Given the description of an element on the screen output the (x, y) to click on. 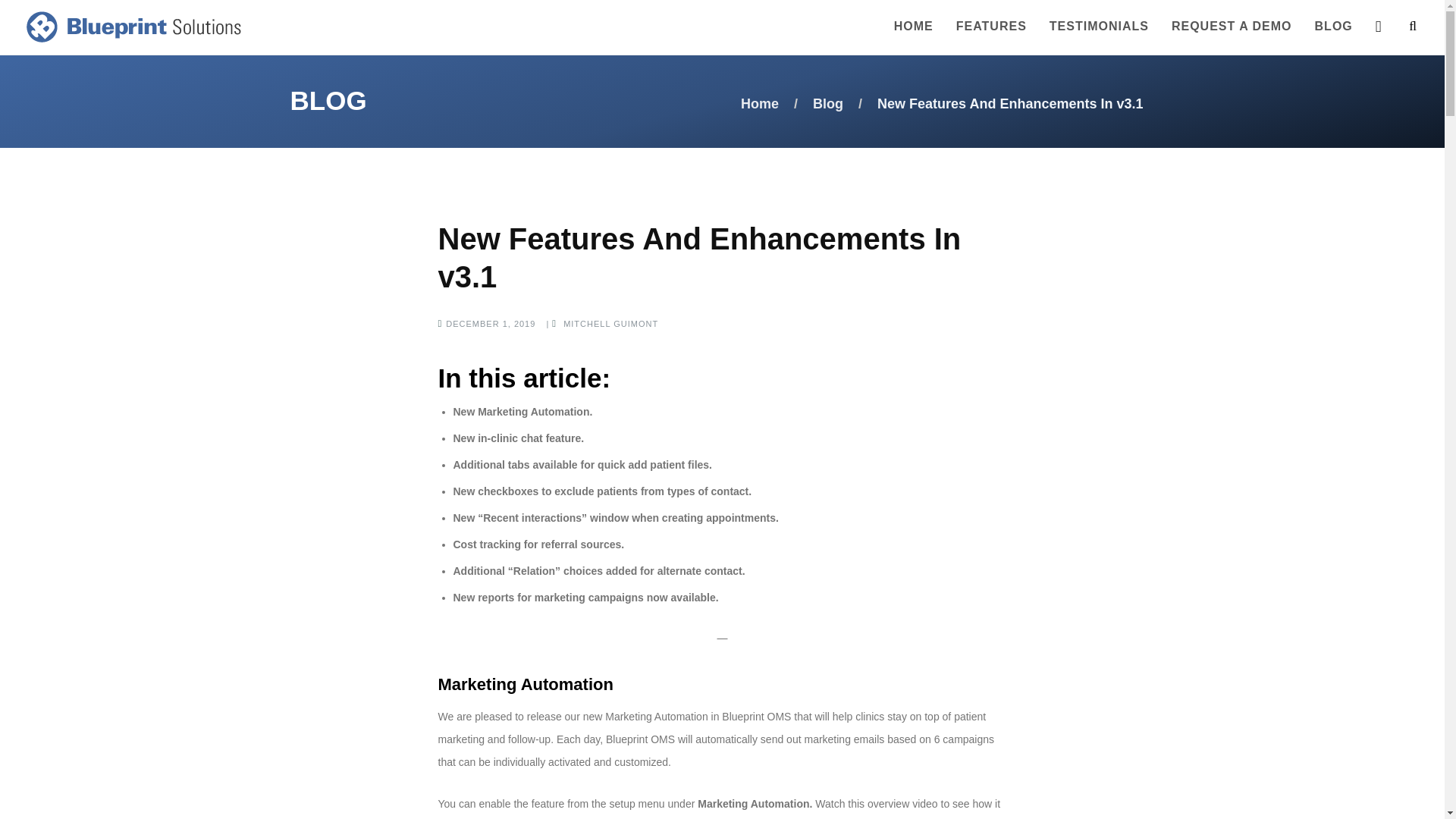
Blog (827, 103)
HOME (913, 26)
REQUEST A DEMO (1231, 26)
Home (759, 103)
FEATURES (991, 26)
TESTIMONIALS (1099, 26)
New Features And Enhancements In v3.1 (699, 257)
Blueprint Solutions (130, 26)
BLOG (1333, 26)
